Given the description of an element on the screen output the (x, y) to click on. 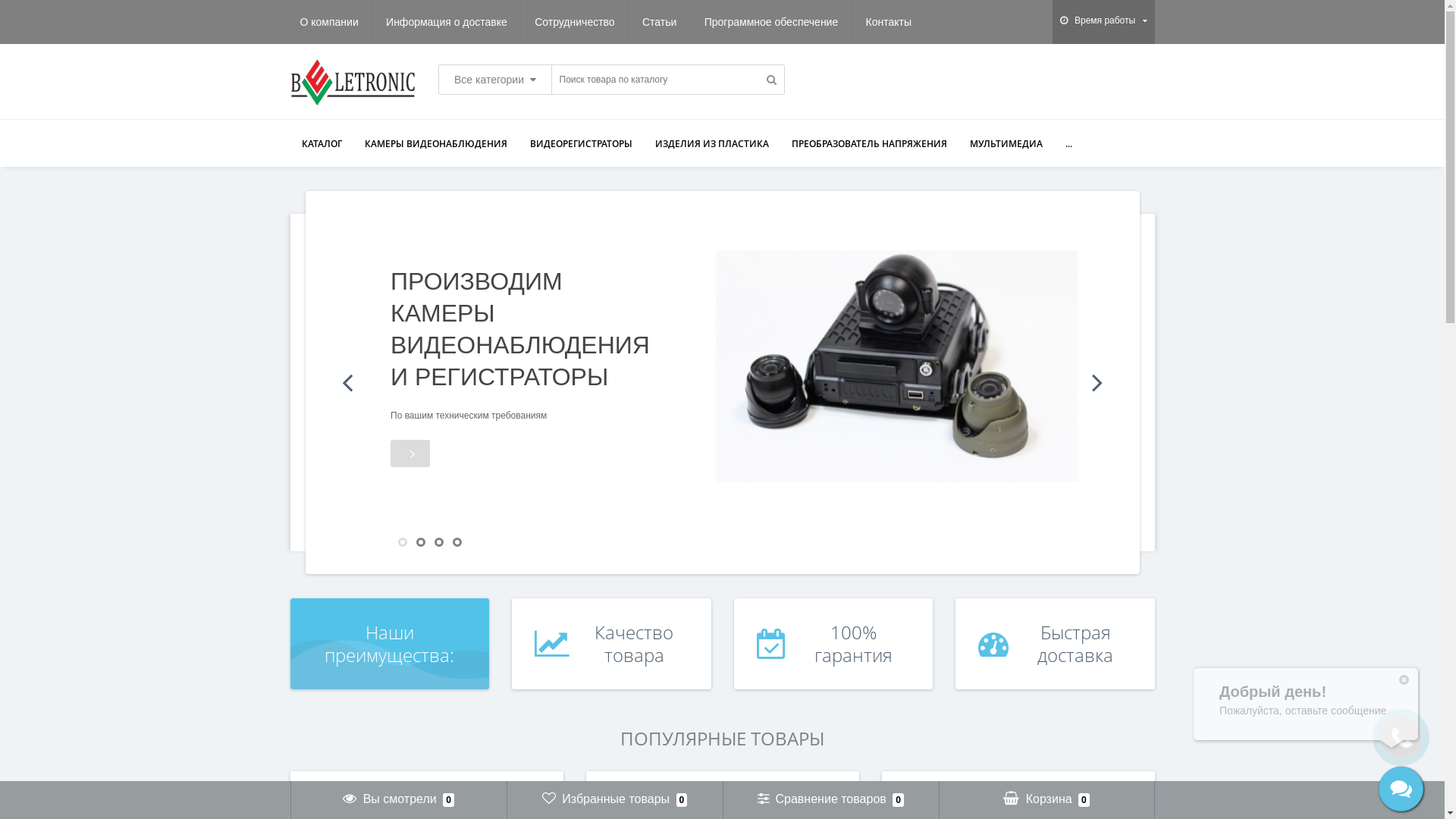
... Element type: text (1068, 143)
